Given the description of an element on the screen output the (x, y) to click on. 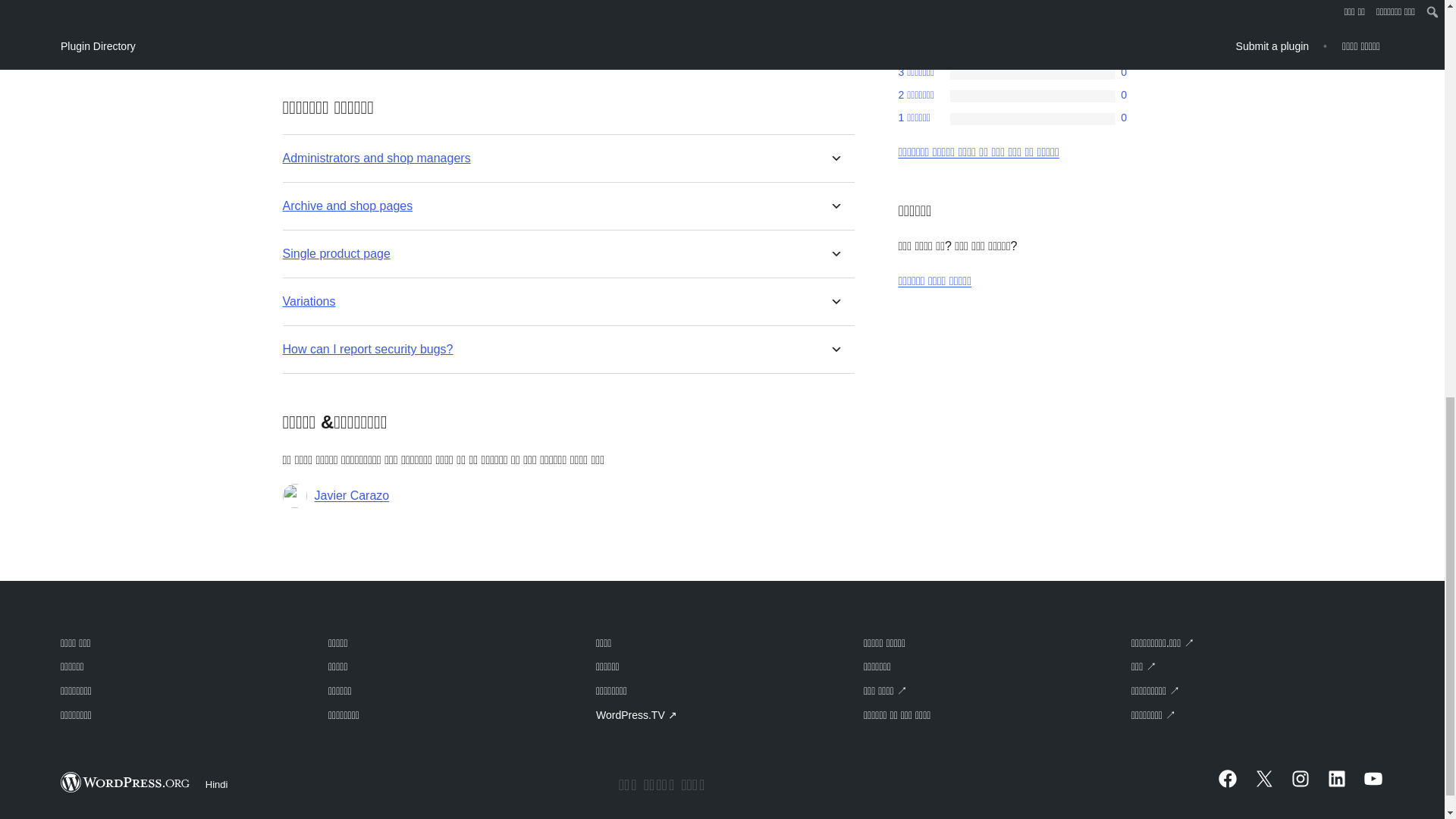
WordPress.org (125, 782)
